Given the description of an element on the screen output the (x, y) to click on. 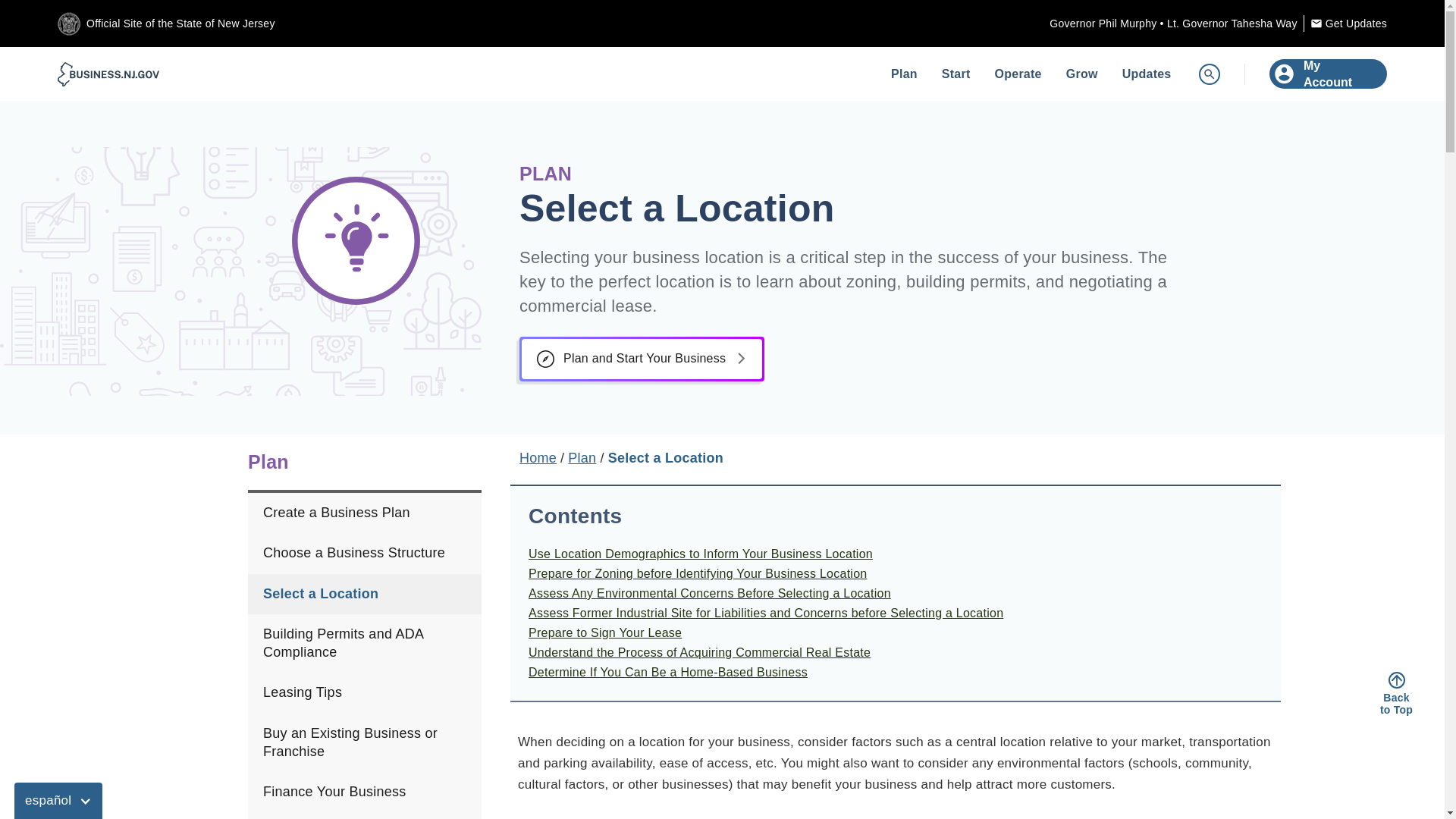
Operate (1018, 73)
Start (956, 73)
Plan (904, 73)
Get Updates (1355, 23)
Official Site of the State of New Jersey (180, 23)
Grow (1081, 73)
